Given the description of an element on the screen output the (x, y) to click on. 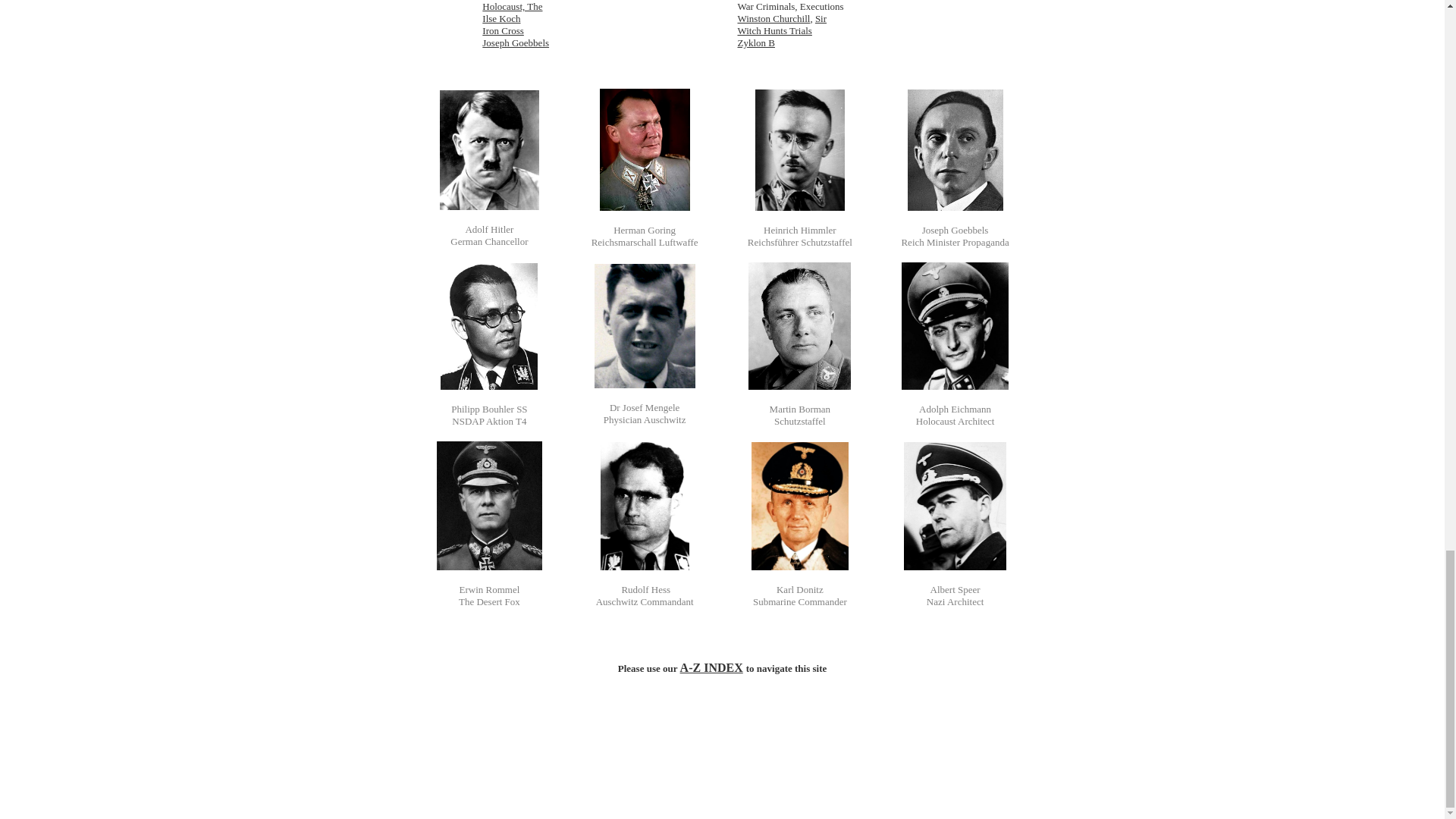
Ilse Koch (500, 18)
Holocaust, The (511, 6)
Iron Cross (502, 30)
Joseph Goebbels (514, 42)
